Given the description of an element on the screen output the (x, y) to click on. 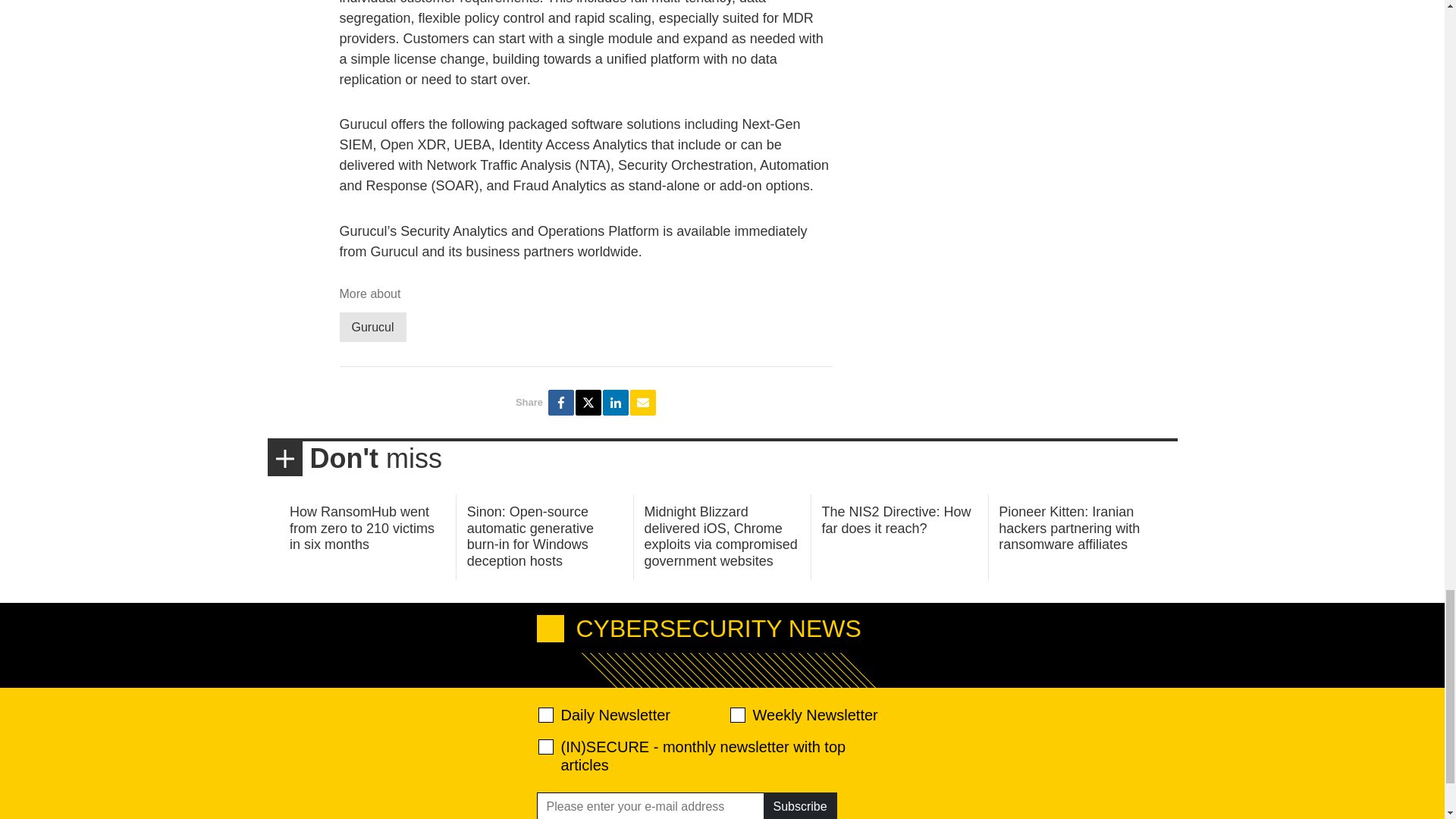
d2d471aafa (736, 714)
Gurucul (372, 327)
520ac2f639 (545, 714)
How RansomHub went from zero to 210 victims in six months (361, 528)
The NIS2 Directive: How far does it reach? (896, 520)
28abe5d9ef (545, 746)
Gurucul (372, 327)
